Given the description of an element on the screen output the (x, y) to click on. 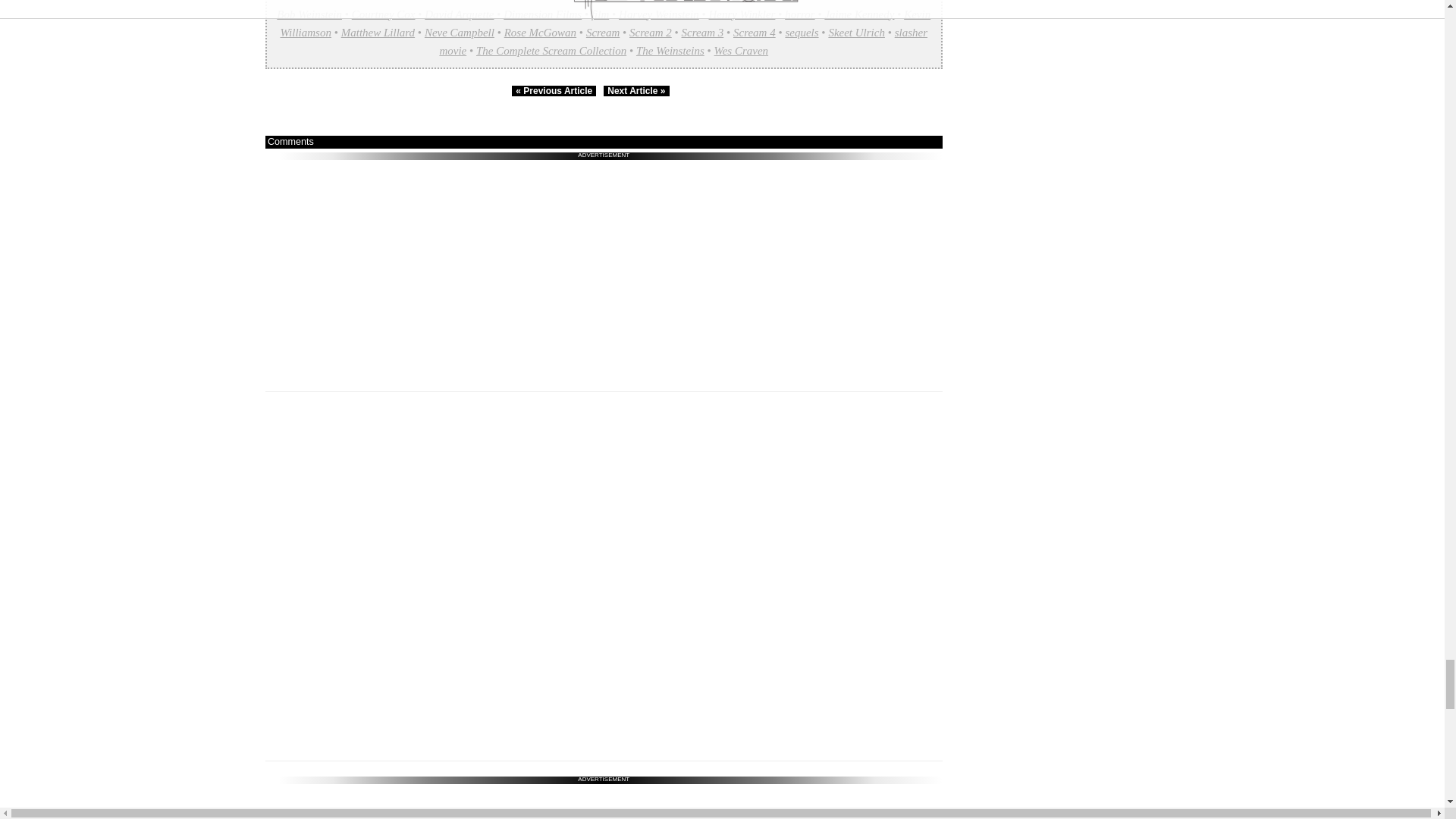
film (599, 14)
Matthew Lillard (377, 32)
Courtney Cox (383, 14)
David Arquette (459, 14)
Henry Winkler (740, 14)
horror (798, 14)
Harvey Weinstein (658, 14)
Dimension Films (541, 14)
Bob Weinstein (309, 14)
Jaime Kennedy (858, 14)
Kevin Williamson (604, 23)
